Given the description of an element on the screen output the (x, y) to click on. 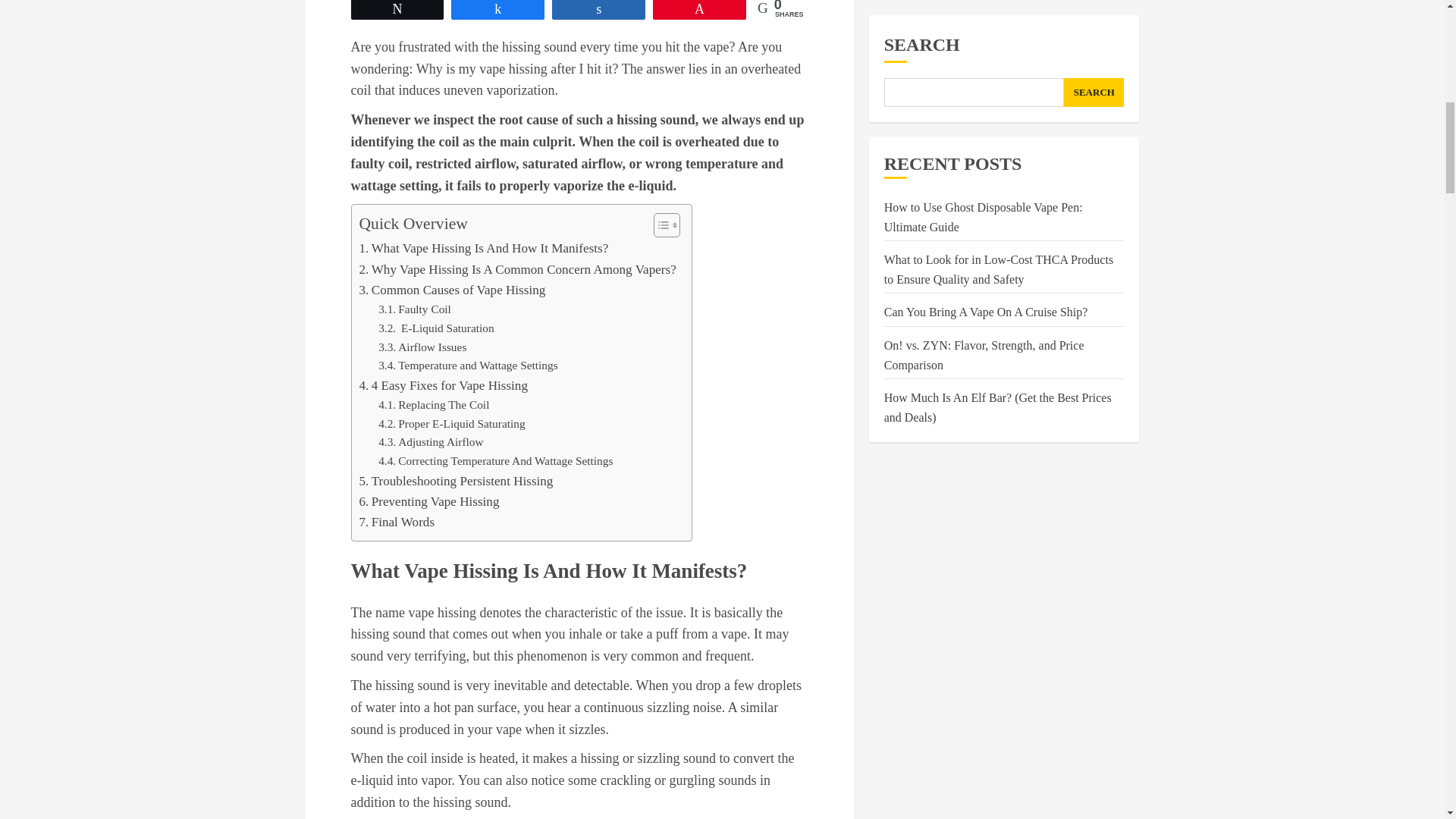
Troubleshooting Persistent Hissing (456, 480)
Why Vape Hissing Is A Common Concern Among Vapers? (518, 269)
Common Causes of Vape Hissing (452, 290)
Replacing The Coil (433, 404)
Proper E-Liquid Saturating (451, 424)
Proper E-Liquid Saturating (451, 424)
Why Vape Hissing Is A Common Concern Among Vapers? (518, 269)
Temperature and Wattage Settings (467, 365)
